Given the description of an element on the screen output the (x, y) to click on. 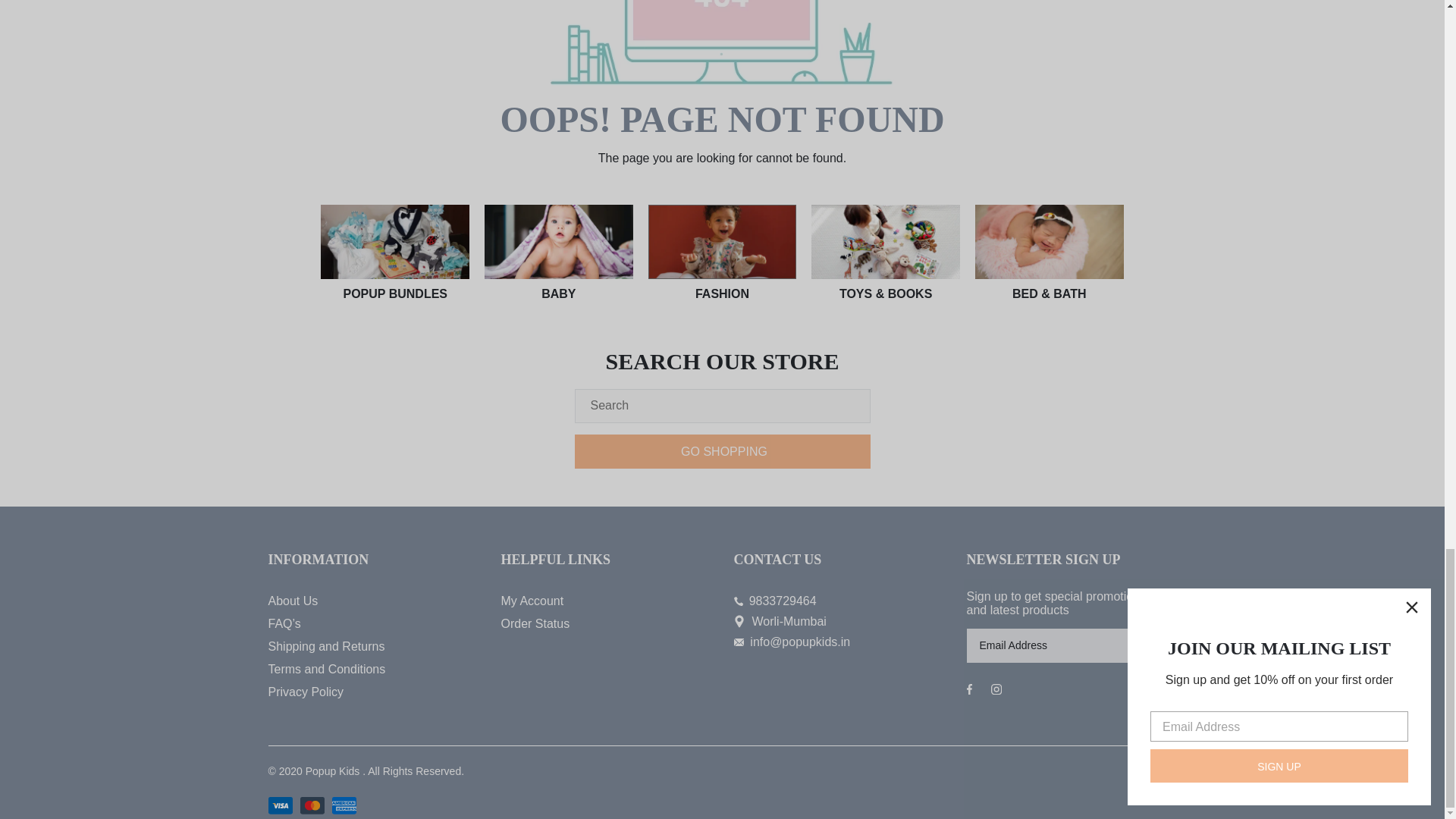
Sign up (1152, 645)
About Us (373, 600)
Privacy Policy (373, 691)
Order Status (605, 623)
 Shipping and Returns (373, 646)
Terms and Conditions (373, 669)
9833729464 (838, 600)
My Account (605, 600)
